Given the description of an element on the screen output the (x, y) to click on. 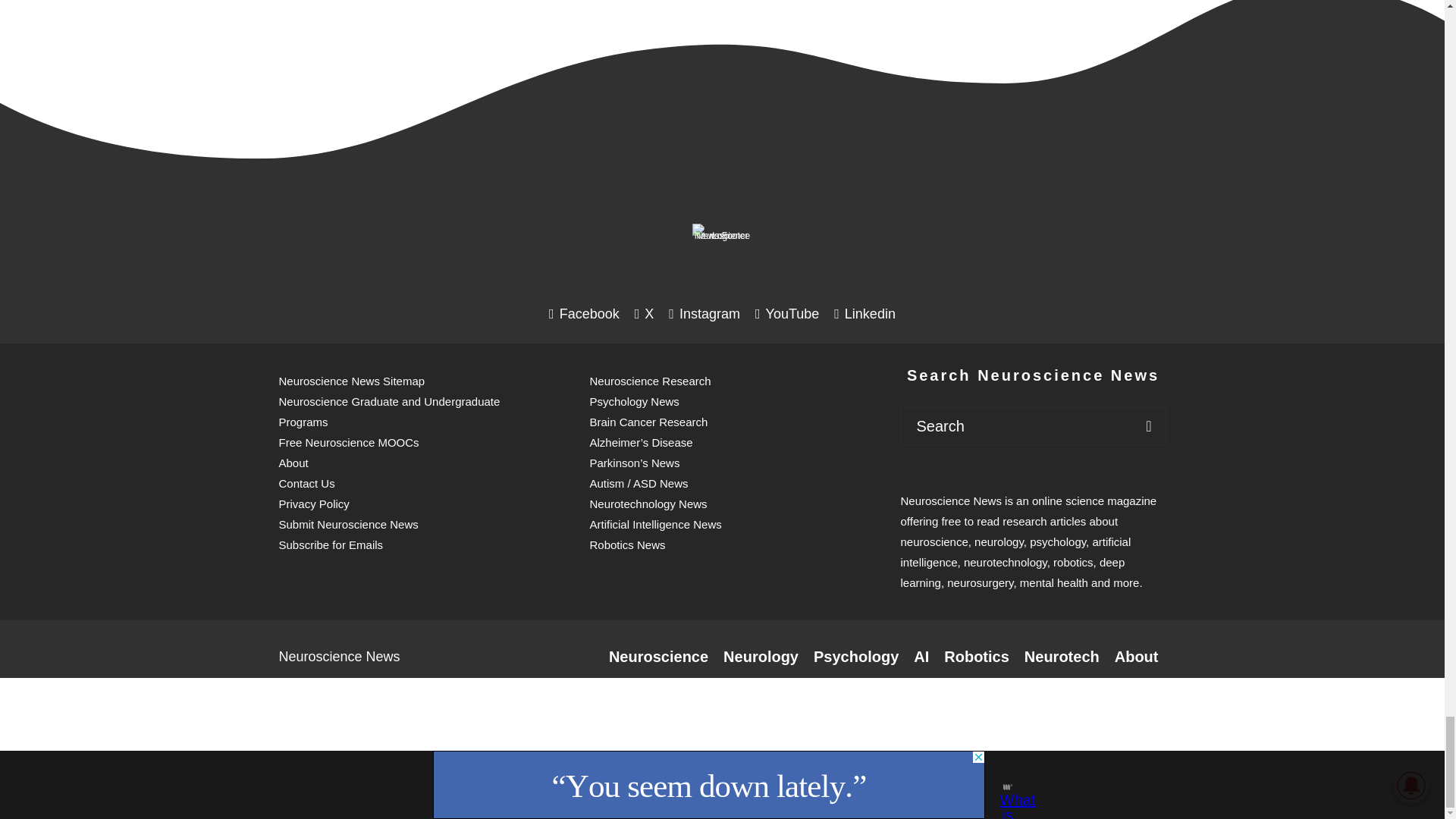
Neurology Research Articles (760, 656)
Neuroscience Research (657, 656)
Psychology Research Articles (855, 656)
